Given the description of an element on the screen output the (x, y) to click on. 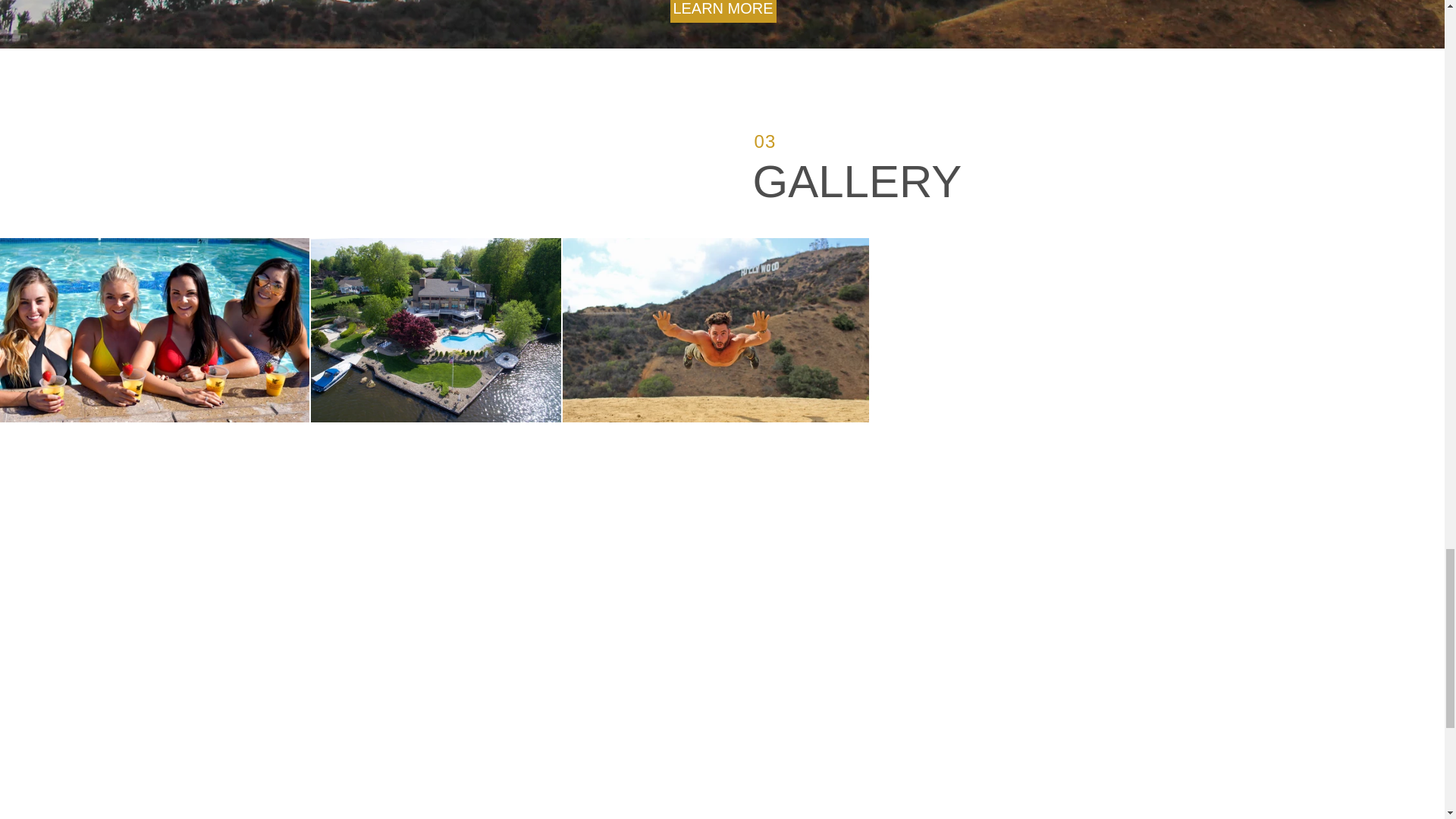
LEARN MORE (722, 11)
GALLERY (856, 181)
